Given the description of an element on the screen output the (x, y) to click on. 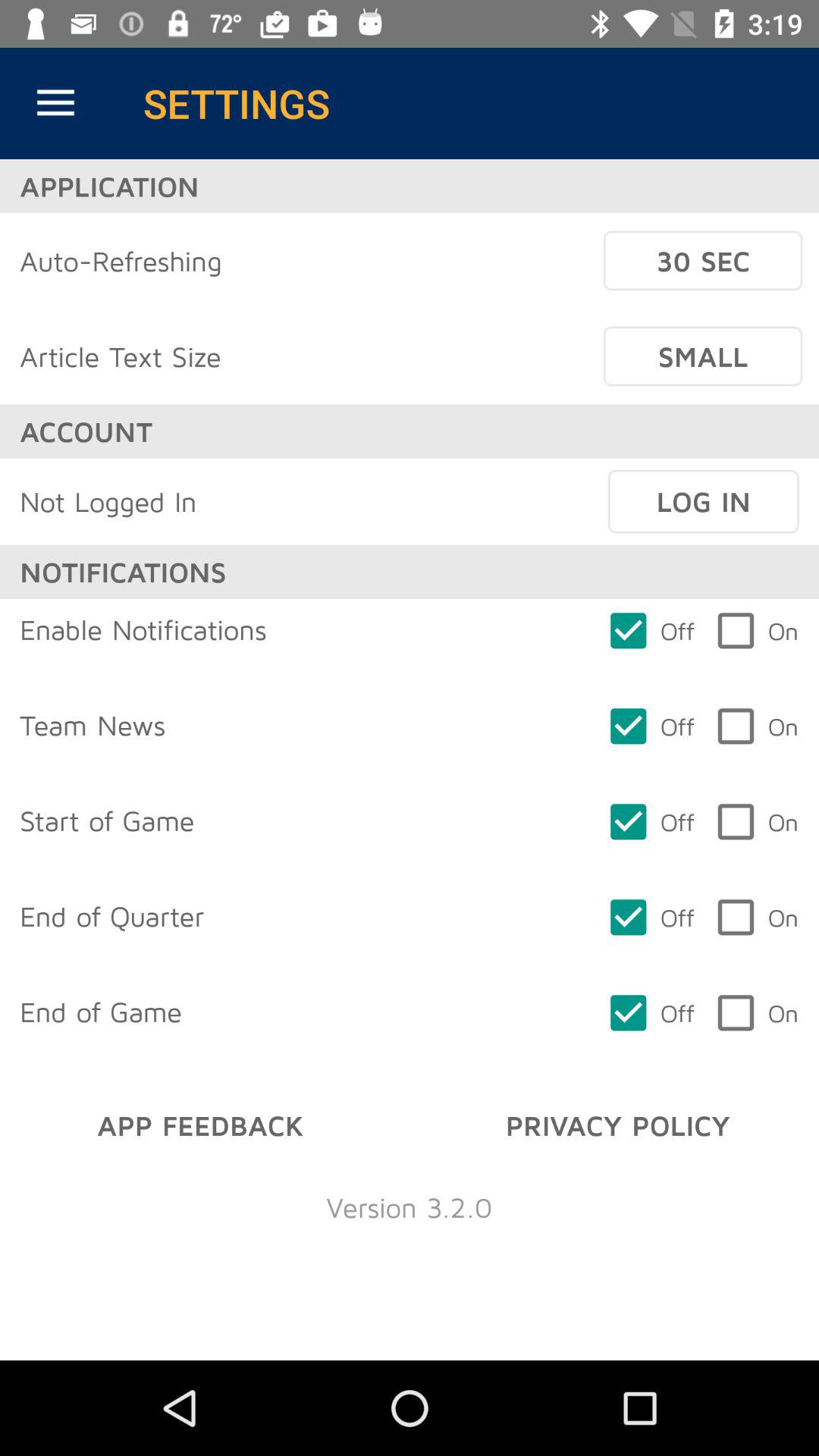
press the version 3 2 (409, 1206)
